Given the description of an element on the screen output the (x, y) to click on. 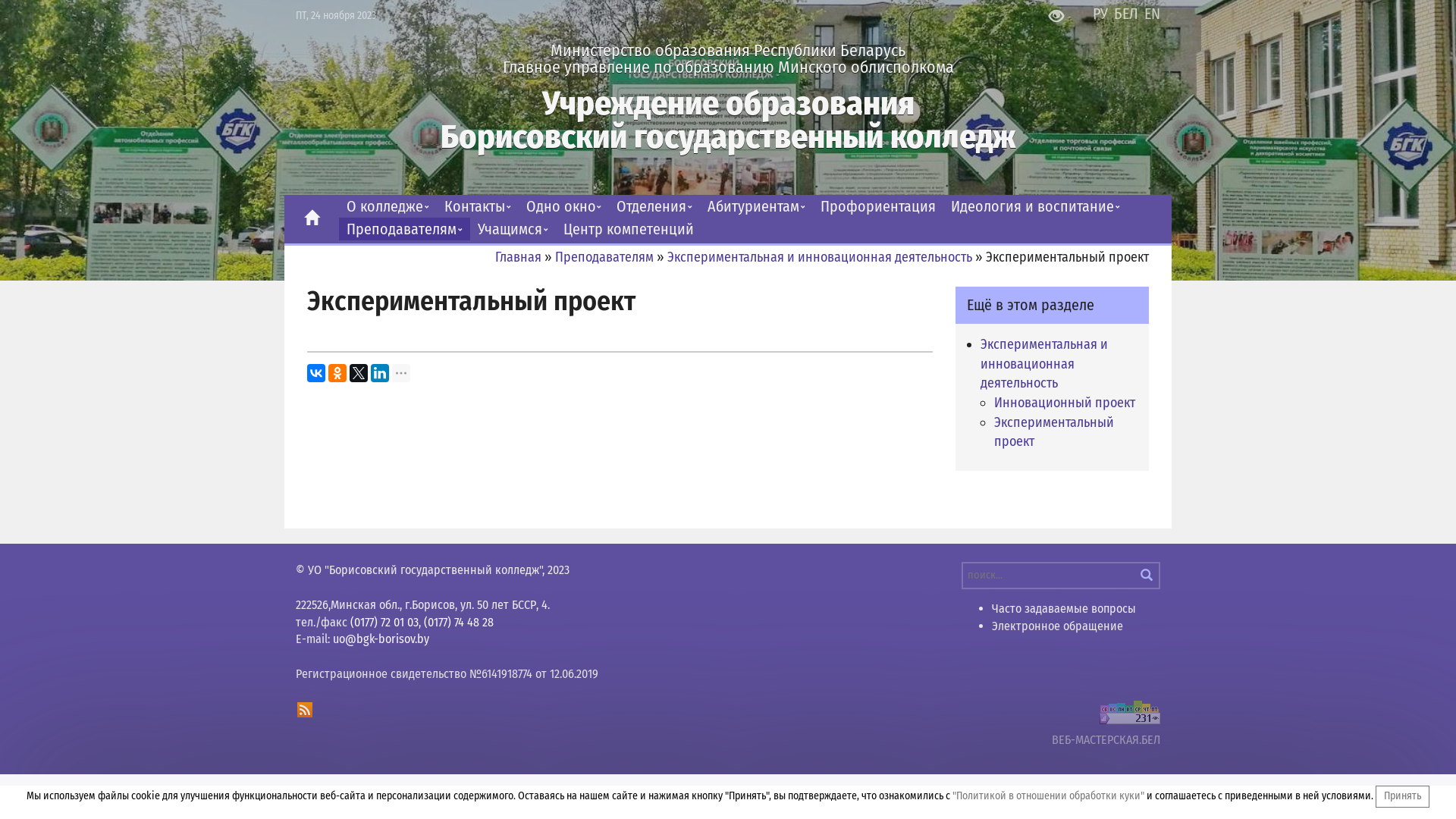
EN Element type: text (1152, 13)
uo@bgk-borisov.by Element type: text (380, 638)
Twitter Element type: hover (358, 373)
(0177) 72 01 03 Element type: text (384, 622)
LinkedIn Element type: hover (379, 373)
(0177) 74 48 28 Element type: text (458, 622)
